Given the description of an element on the screen output the (x, y) to click on. 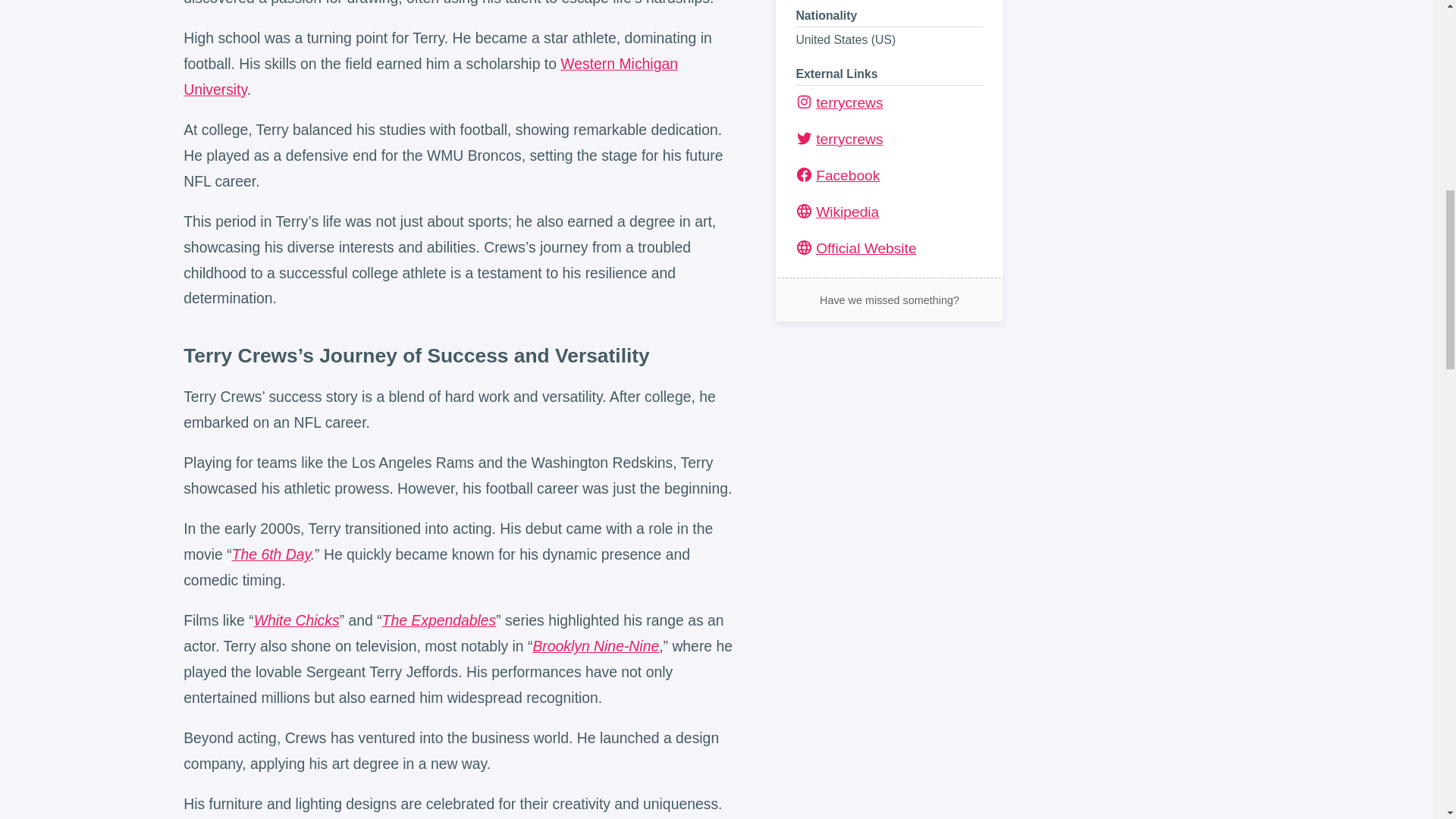
Have we missed something? (890, 299)
terrycrews (887, 103)
The Expendables (438, 619)
Facebook (836, 175)
Wikipedia (836, 211)
Brooklyn Nine-Nine (595, 646)
Western Michigan University (430, 76)
Official Website (887, 248)
White Chicks (296, 619)
The 6th Day (271, 554)
